Given the description of an element on the screen output the (x, y) to click on. 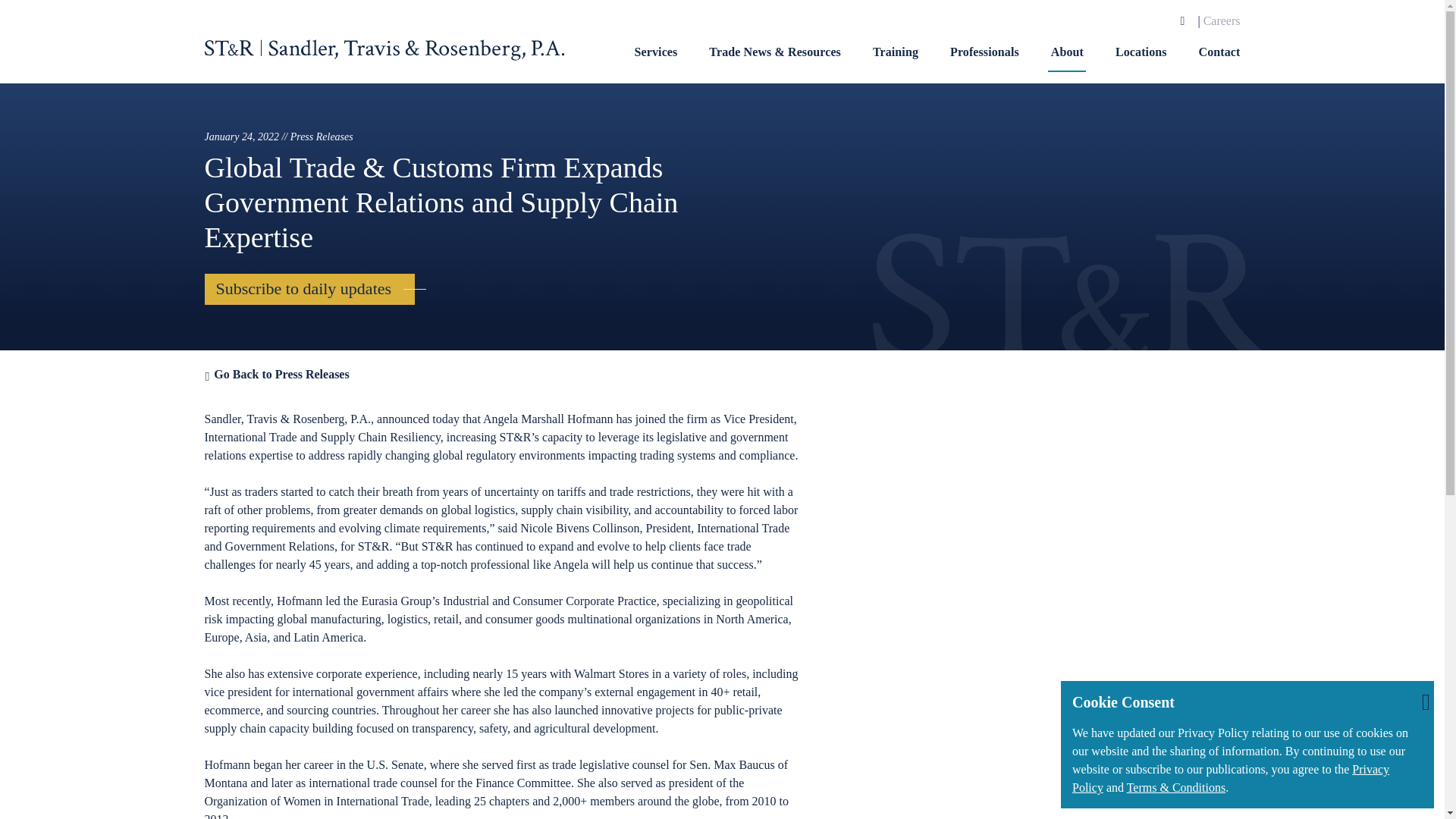
Careers (1222, 19)
Search (1182, 21)
Services (656, 62)
